Given the description of an element on the screen output the (x, y) to click on. 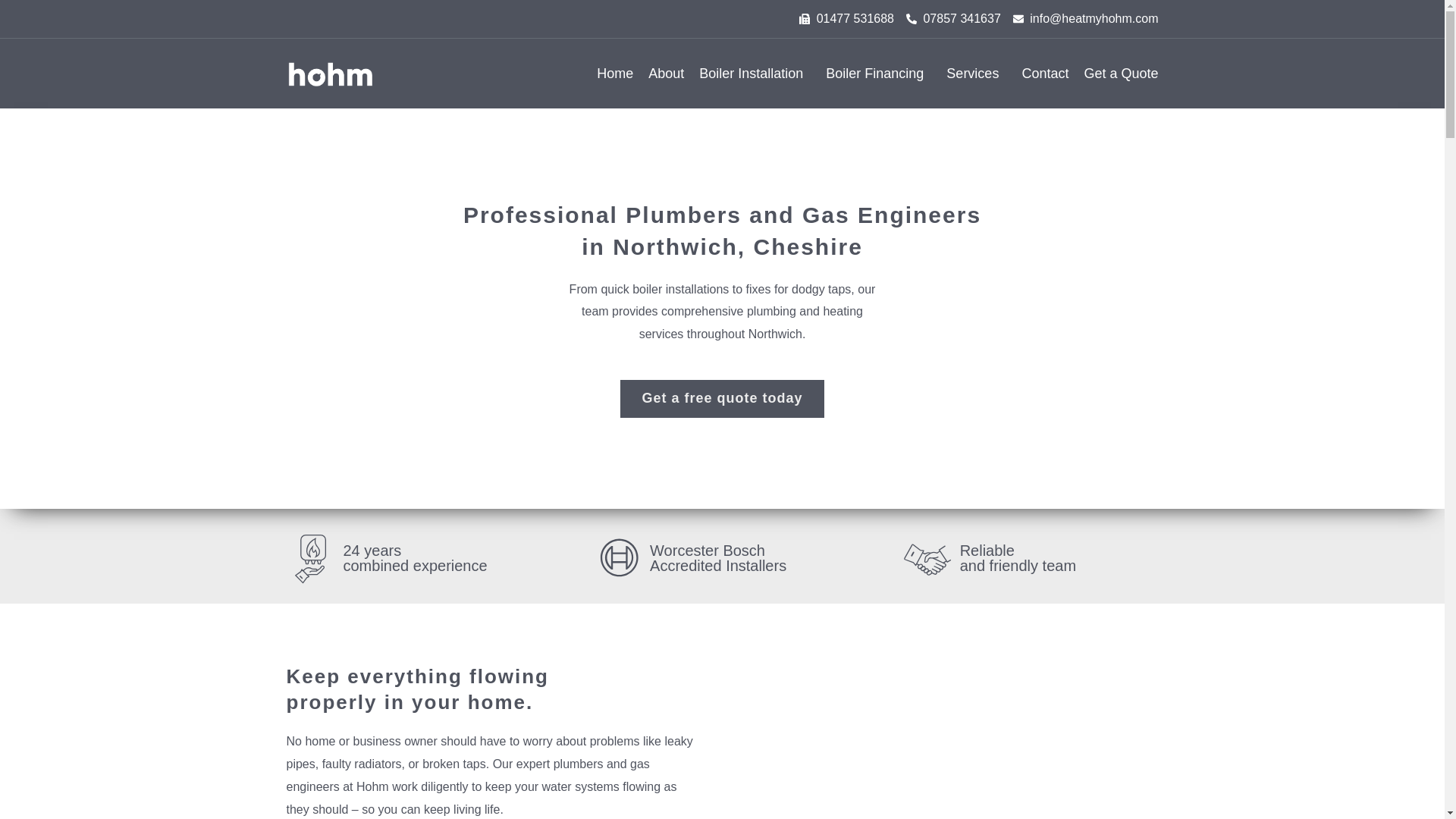
Get a free quote today (722, 398)
01477 531688 (846, 18)
Get a Quote (1120, 73)
Boiler Financing (878, 73)
07857 341637 (953, 18)
Home (614, 73)
Boiler Installation (754, 73)
Services (976, 73)
About (665, 73)
Contact (1045, 73)
